Given the description of an element on the screen output the (x, y) to click on. 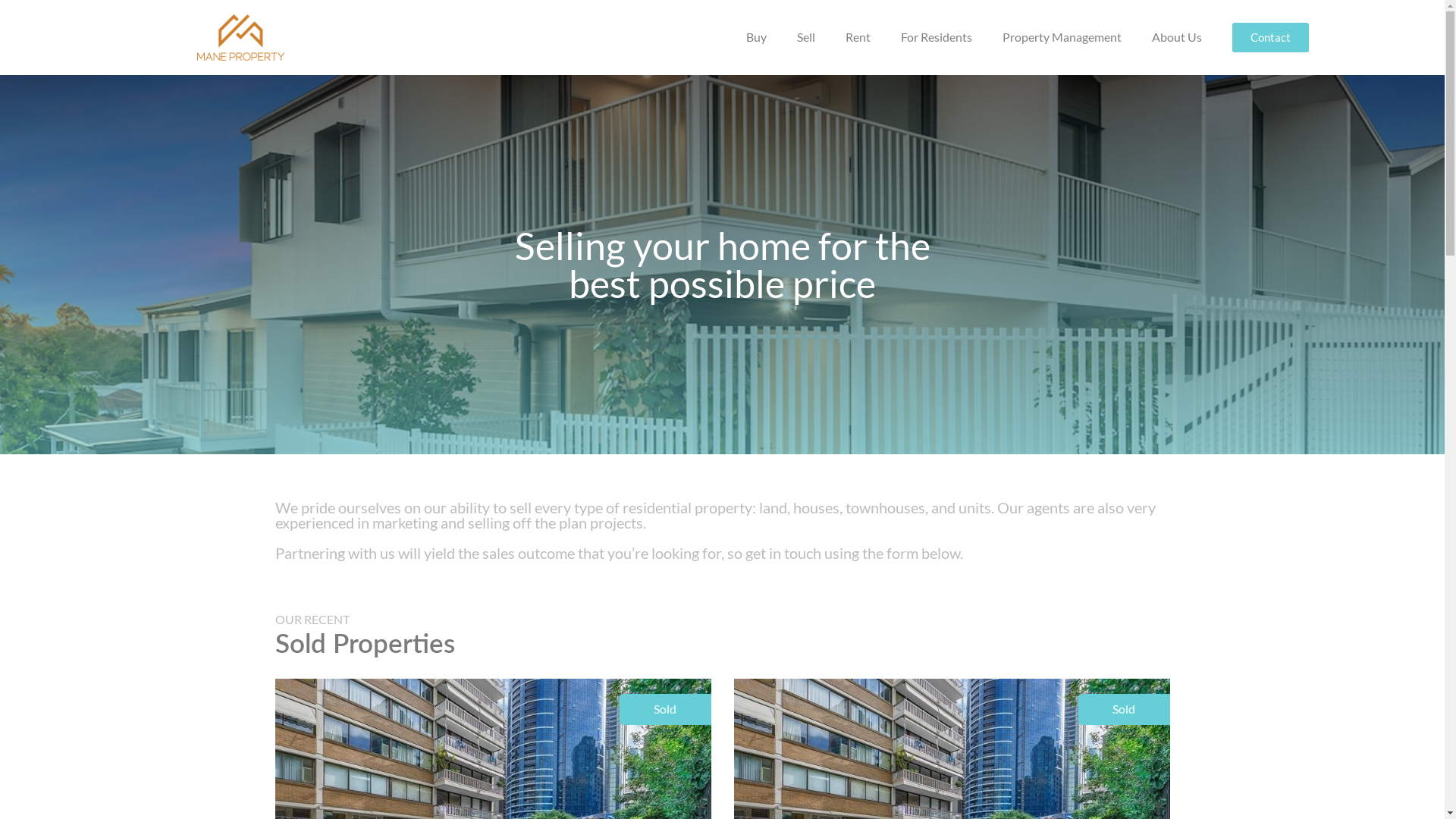
About Us Element type: text (1176, 36)
Rent Element type: text (857, 36)
Buy Element type: text (756, 36)
For Residents Element type: text (936, 36)
Property Management Element type: text (1061, 36)
Sell Element type: text (805, 36)
Contact Element type: text (1270, 37)
